Given the description of an element on the screen output the (x, y) to click on. 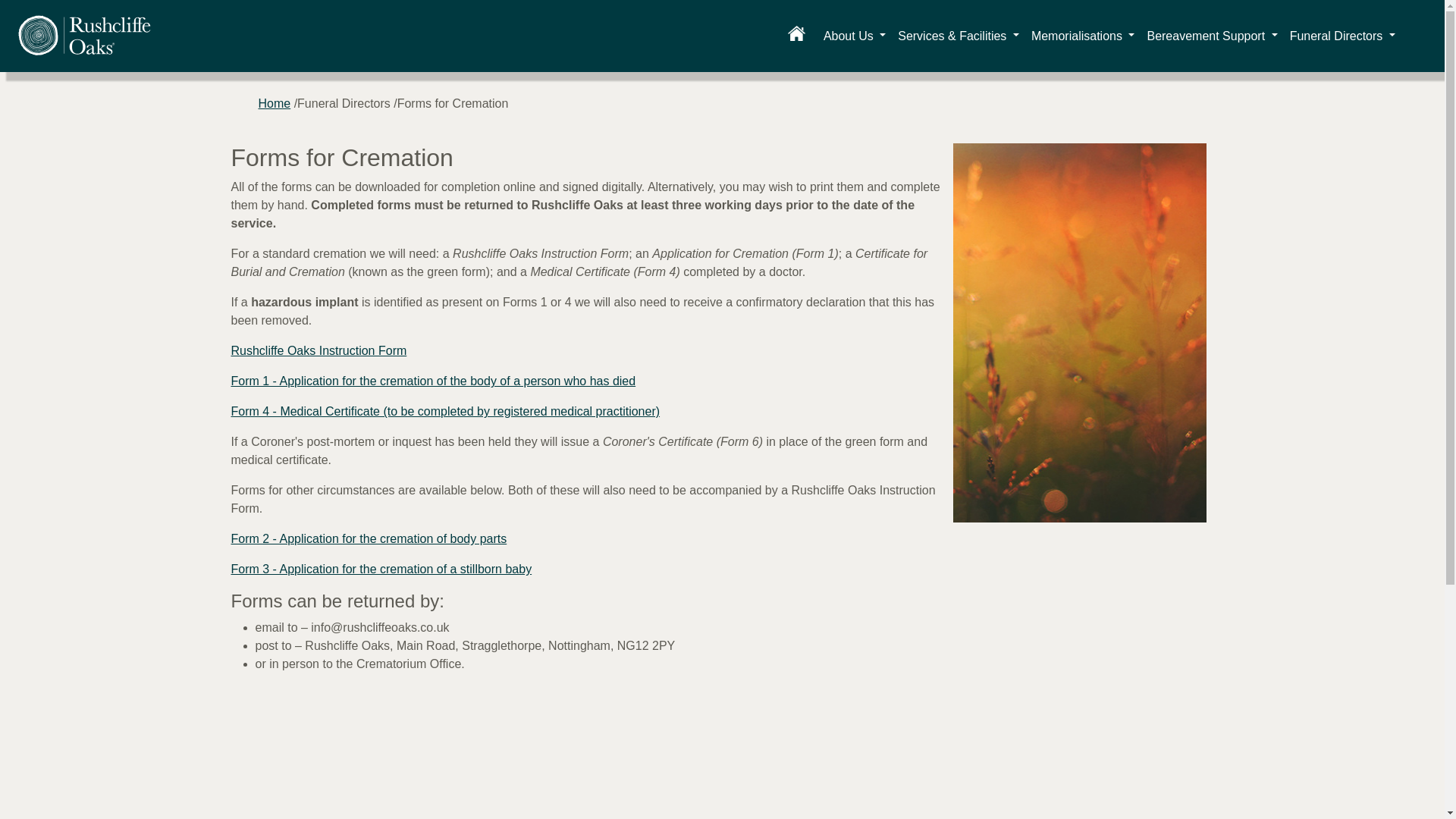
RO Cremation Form 2 (368, 538)
RO Cremation Form 3 (380, 568)
Form 3 - Application for the cremation of a stillborn baby (380, 568)
Memorialisations (1083, 36)
Bereavement Support (1211, 36)
Rushcliffe Oaks Instruction Form (318, 350)
About Us (853, 36)
RO Cremation Form 1 (432, 380)
Rushcliffe Oaks Instruction Form (318, 350)
Funeral Directors (1342, 36)
Form 2 - Application for the cremation of body parts (368, 538)
RO Cremation Form 4 (444, 410)
Home (273, 103)
